Given the description of an element on the screen output the (x, y) to click on. 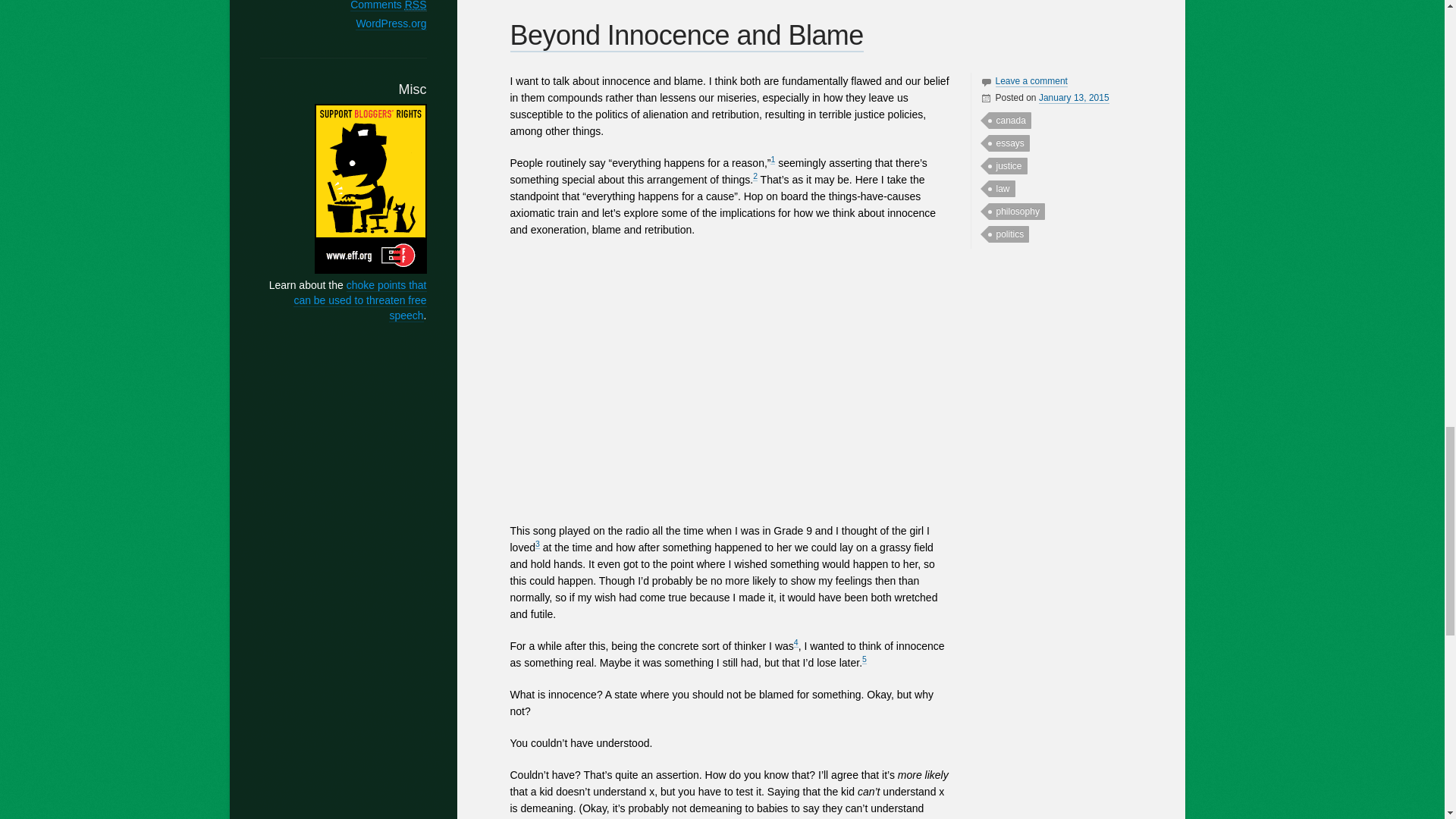
Beyond Innocence and Blame (686, 35)
